Given the description of an element on the screen output the (x, y) to click on. 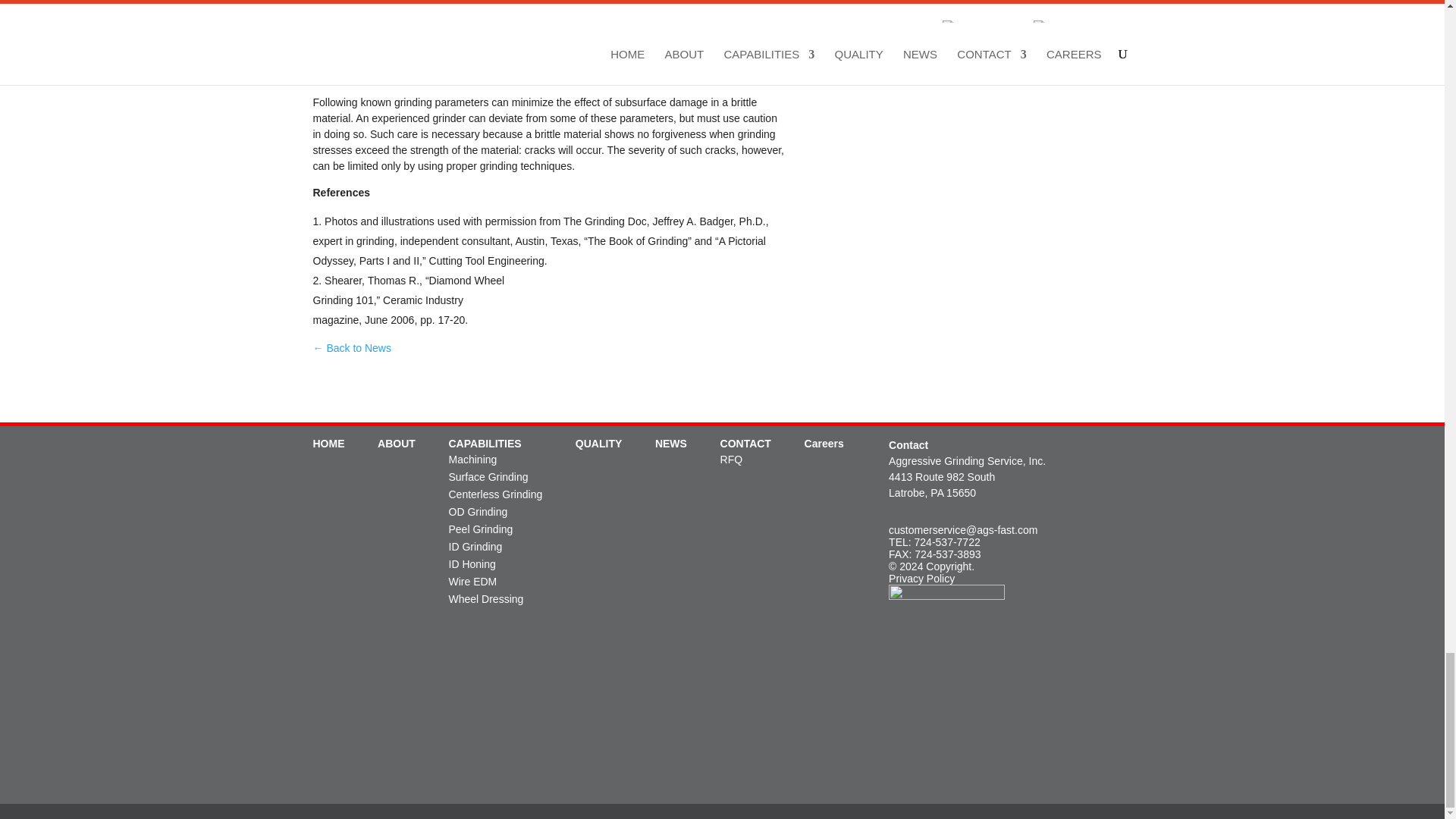
Wheel Dressing (486, 598)
Wire EDM (472, 581)
Surface Grinding (488, 476)
ABOUT (395, 443)
CAPABILITIES (484, 443)
OD Grinding (478, 511)
Centerless Grinding (495, 494)
ID Honing (472, 563)
HOME (328, 443)
QUALITY (598, 443)
ID Grinding (475, 546)
Machining (472, 459)
Peel Grinding (480, 529)
